Given the description of an element on the screen output the (x, y) to click on. 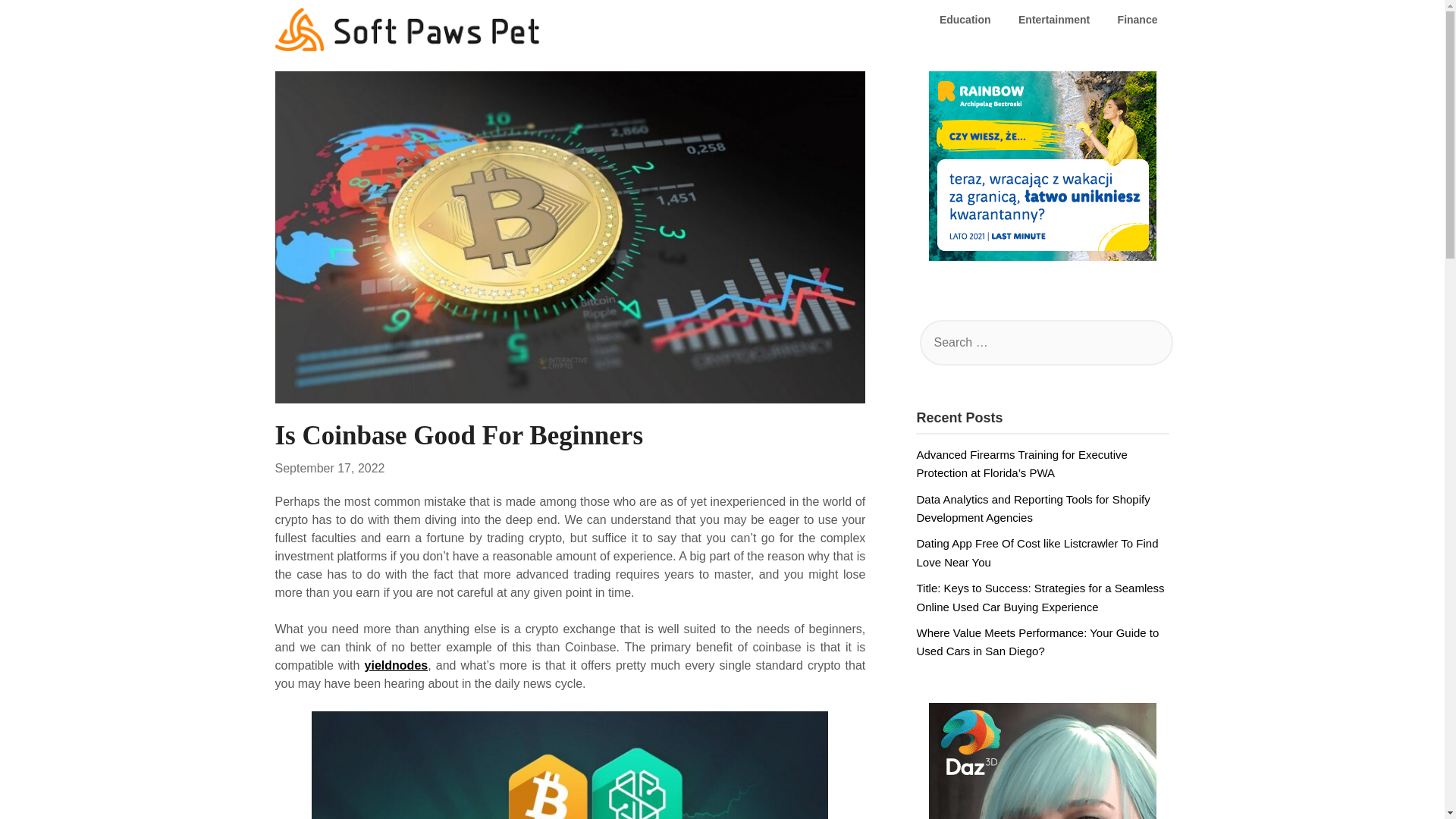
September 17, 2022 (329, 468)
yieldnodes (396, 665)
Search (38, 22)
Entertainment (1054, 20)
Education (965, 20)
Finance (1137, 20)
